Given the description of an element on the screen output the (x, y) to click on. 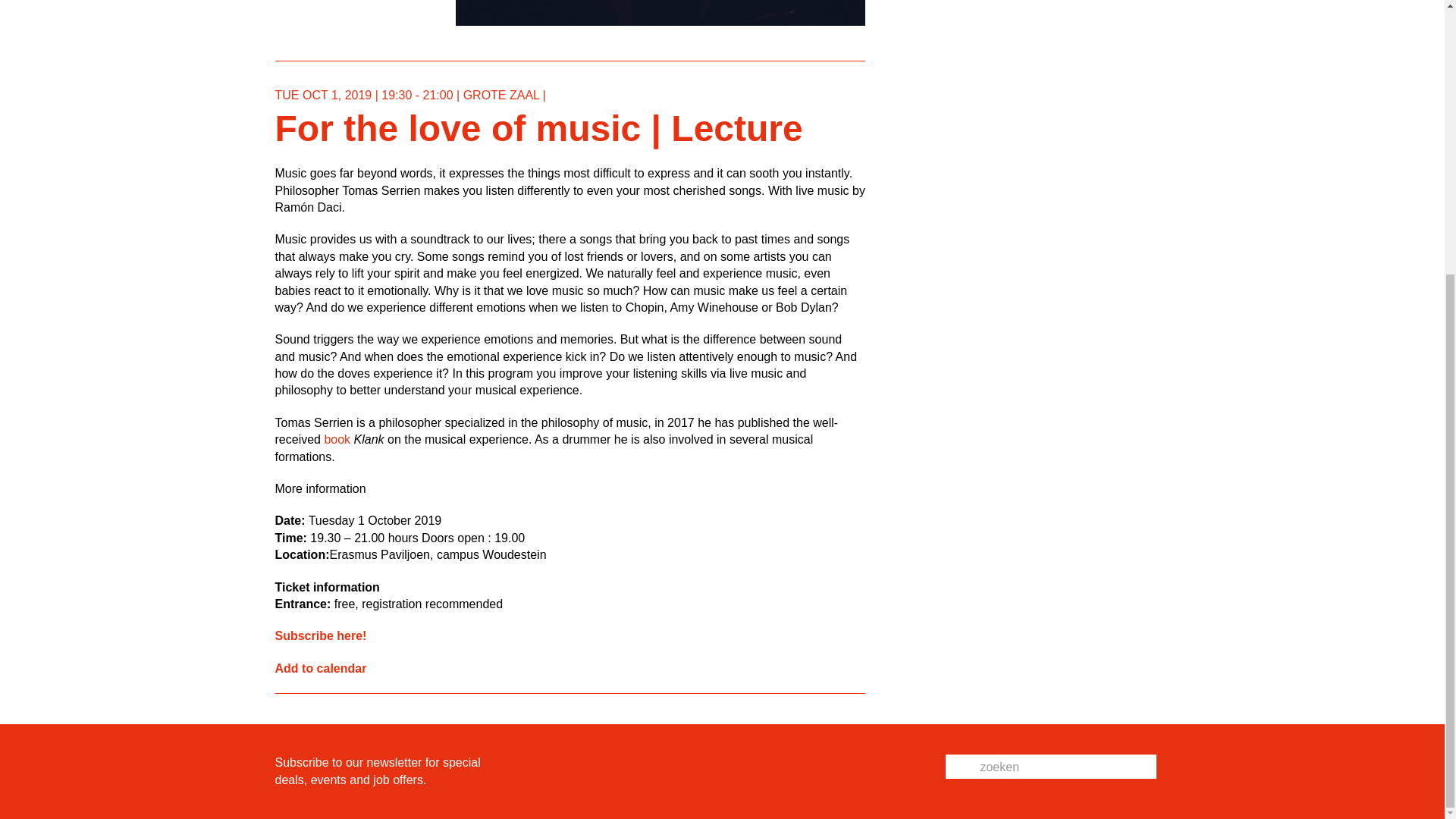
Subscribe here! (320, 635)
Add to calendar (320, 667)
book (336, 439)
zoeken (1067, 767)
zoek (1050, 792)
